Given the description of an element on the screen output the (x, y) to click on. 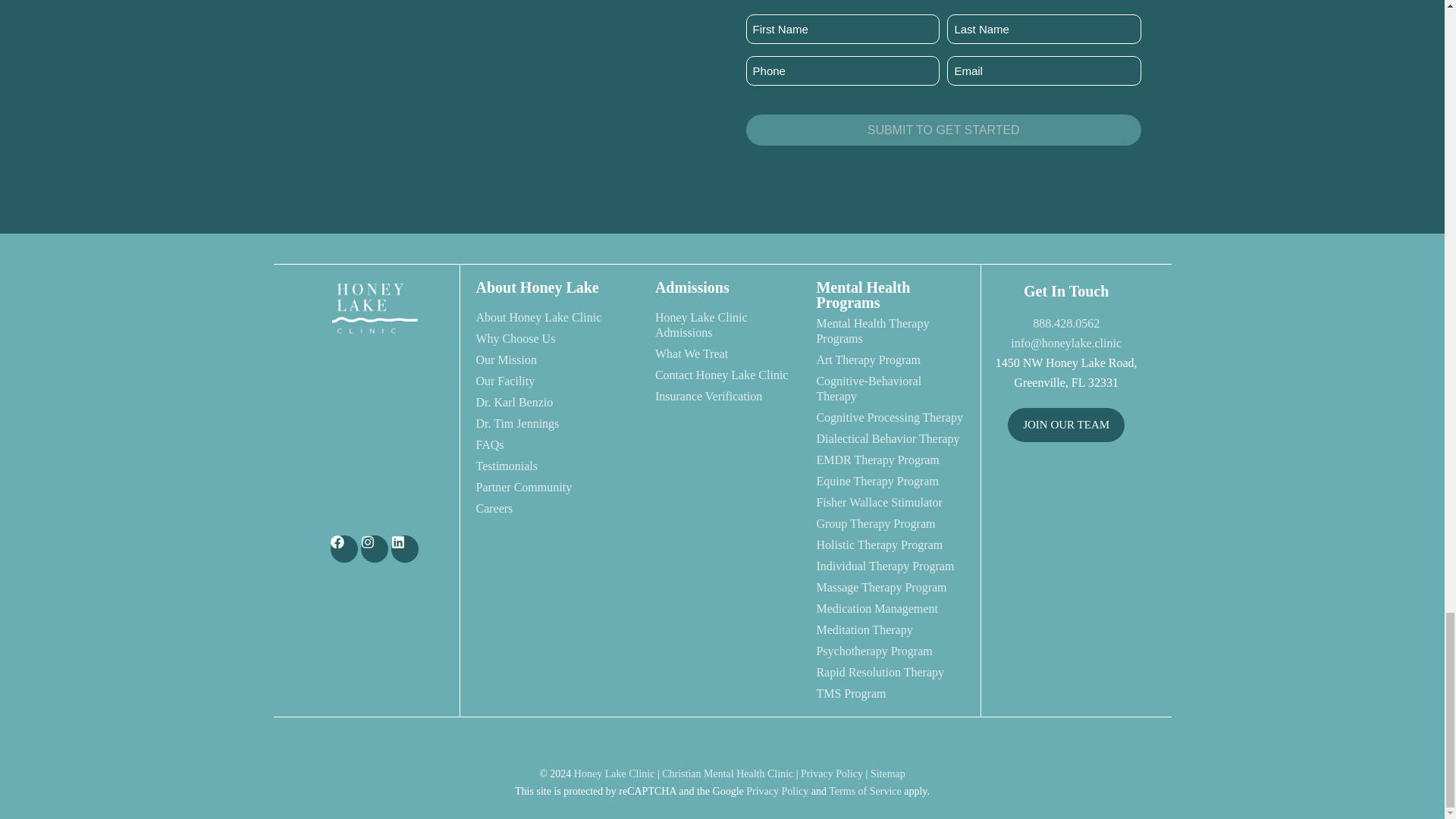
Tagline (374, 425)
Honey Lake Logo White (373, 308)
SUBMIT TO GET STARTED (943, 130)
Honey Lake, 1450 NW Honey Lake Road, Greenville, FL 32331 (1066, 514)
